Given the description of an element on the screen output the (x, y) to click on. 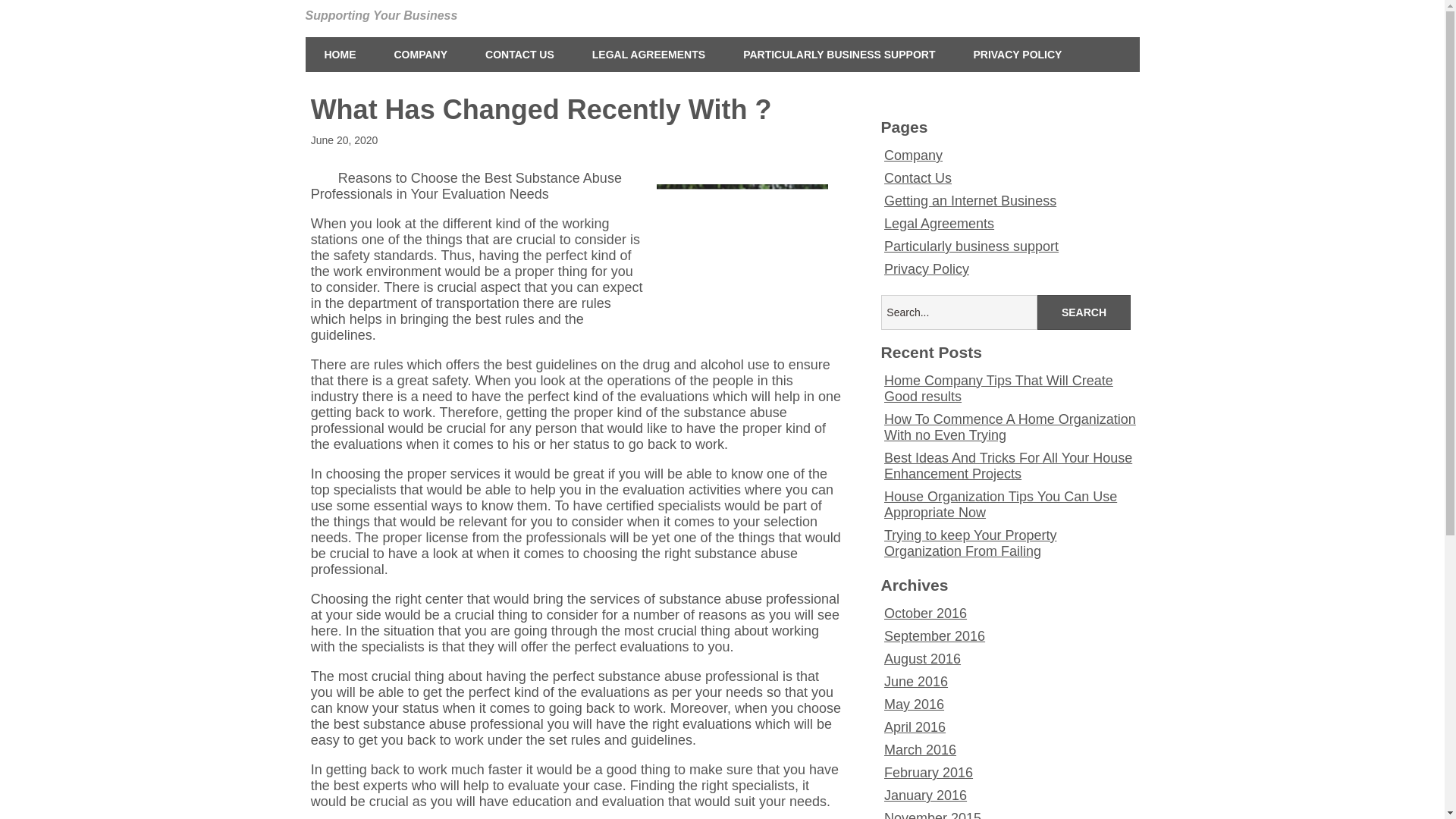
COMPANY (419, 54)
HOME (339, 54)
LEGAL AGREEMENTS (648, 54)
CONTACT US (519, 54)
